Given the description of an element on the screen output the (x, y) to click on. 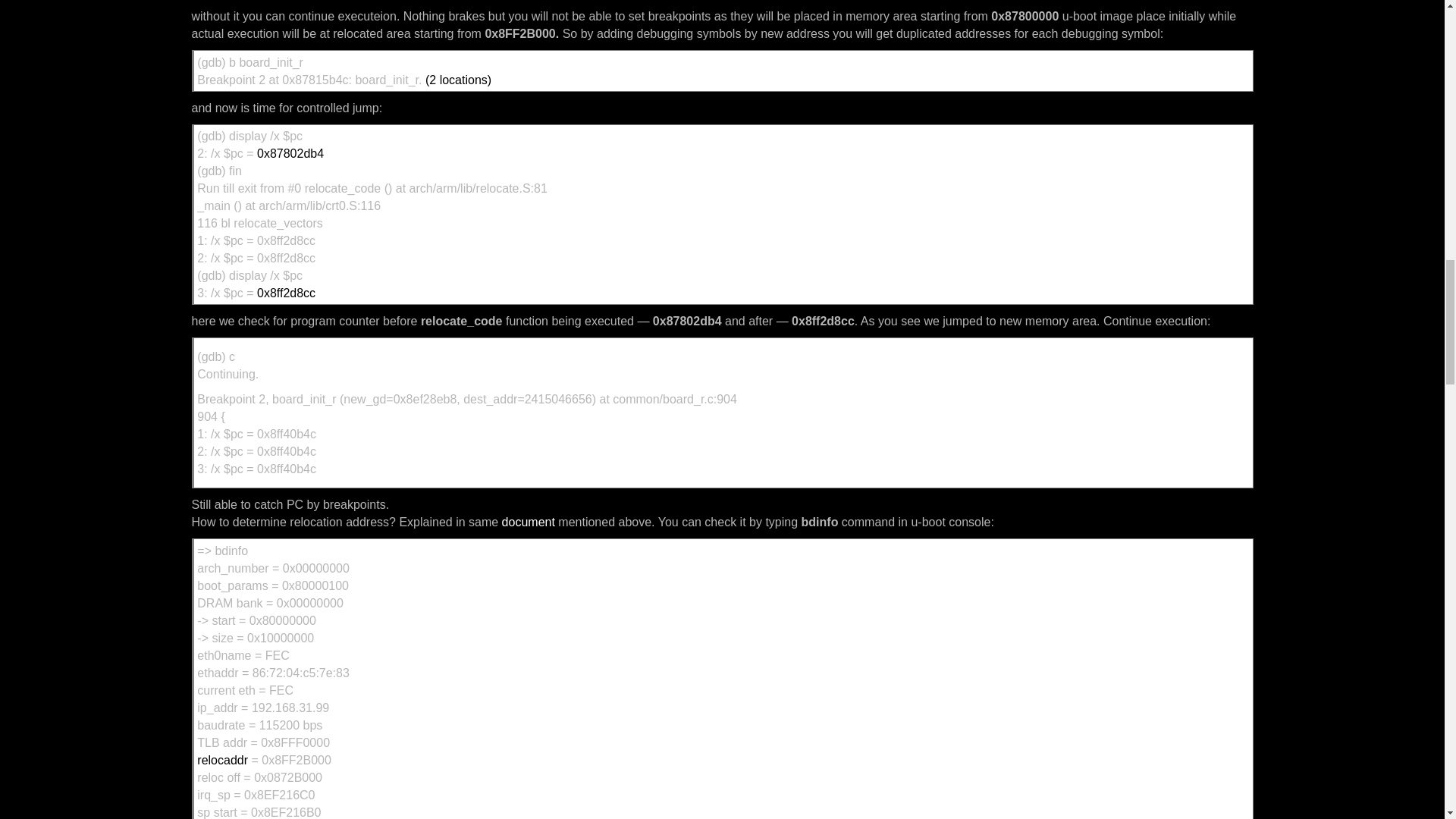
document (528, 521)
